Given the description of an element on the screen output the (x, y) to click on. 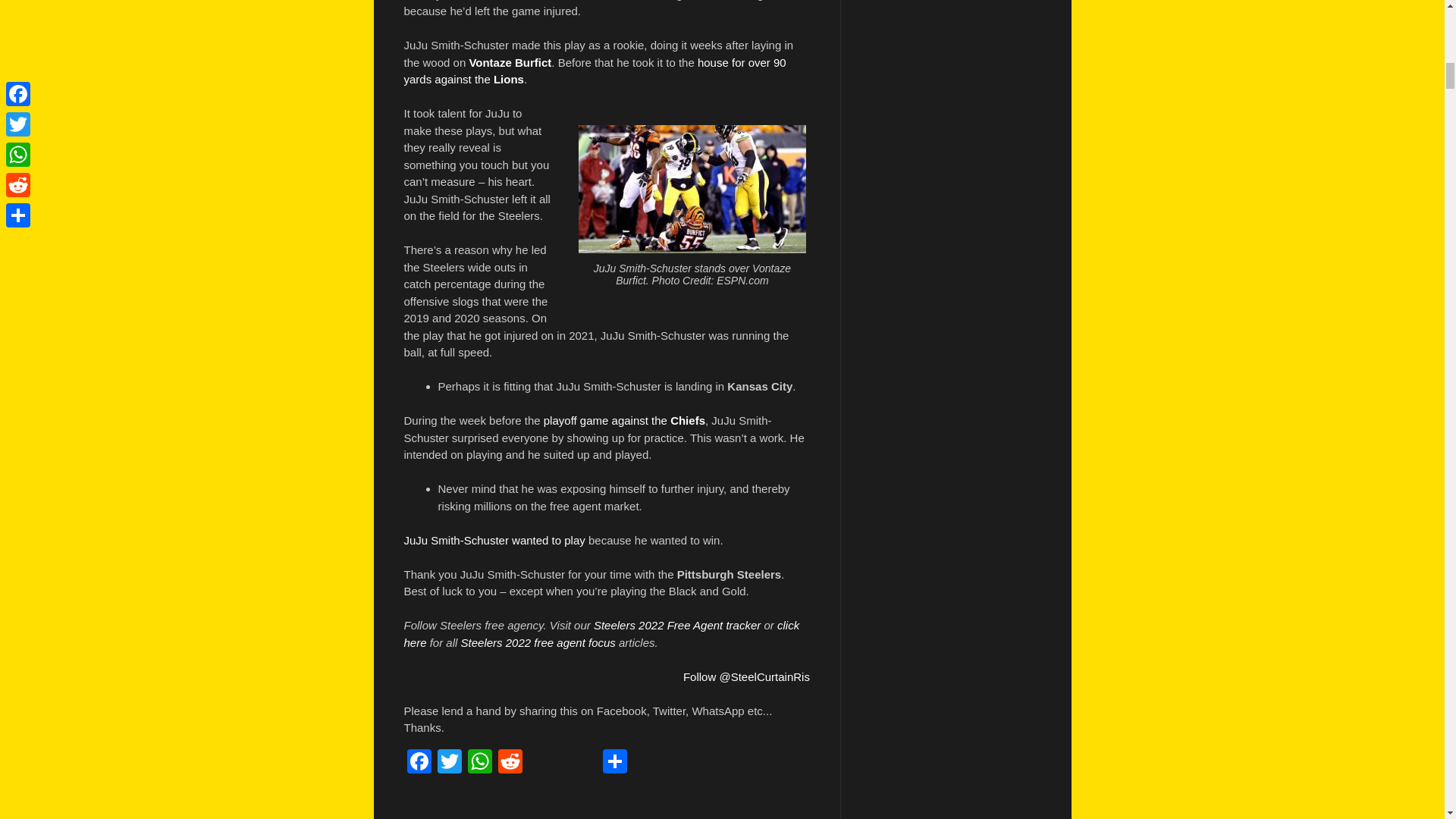
house for over 90 yards against the Lions (594, 71)
Steelers 2022 Free Agent tracker (677, 625)
Steelers 2022 free agent focus (538, 641)
Share (613, 763)
WhatsApp (479, 763)
Reddit (509, 763)
WhatsApp (479, 763)
Facebook (418, 763)
Reddit (509, 763)
Twitter (448, 763)
JuJu Smith-Schuster wanted to play (494, 540)
Twitter (448, 763)
Facebook (418, 763)
click here (601, 634)
playoff game against the Chiefs (623, 420)
